Given the description of an element on the screen output the (x, y) to click on. 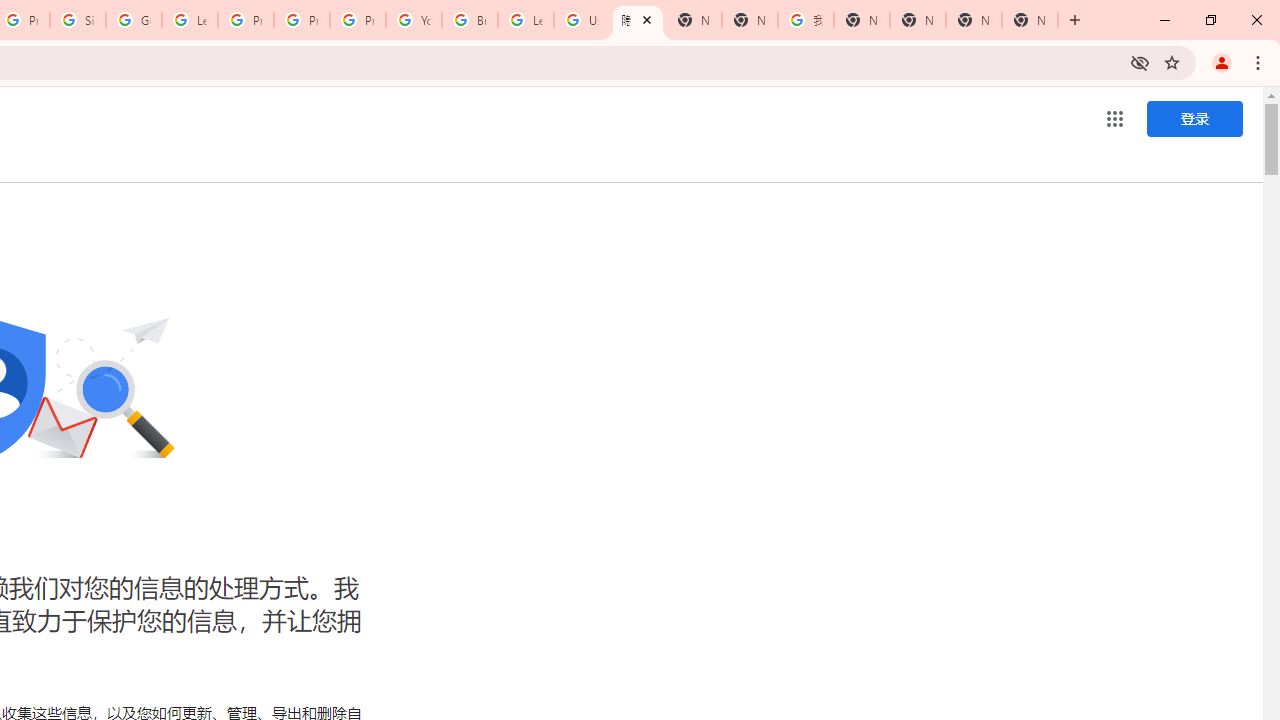
Privacy Help Center - Policies Help (245, 20)
New Tab (1030, 20)
Sign in - Google Accounts (77, 20)
YouTube (413, 20)
Privacy Help Center - Policies Help (301, 20)
